Given the description of an element on the screen output the (x, y) to click on. 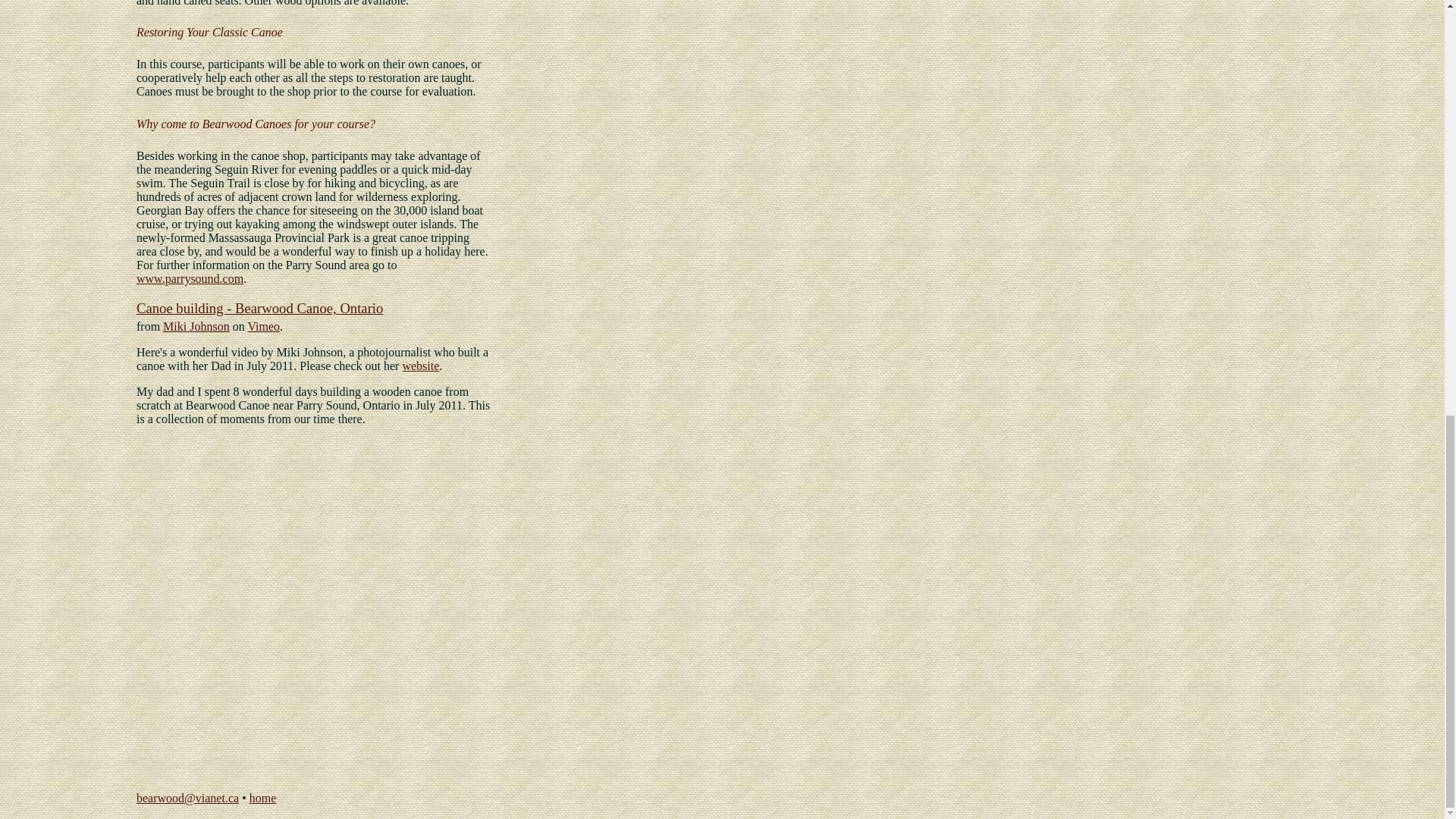
Canoe building - Bearwood Canoe, Ontario (259, 308)
website (420, 365)
home (262, 797)
Miki Johnson (196, 326)
Vimeo (263, 326)
www.parrysound.com (189, 278)
